Given the description of an element on the screen output the (x, y) to click on. 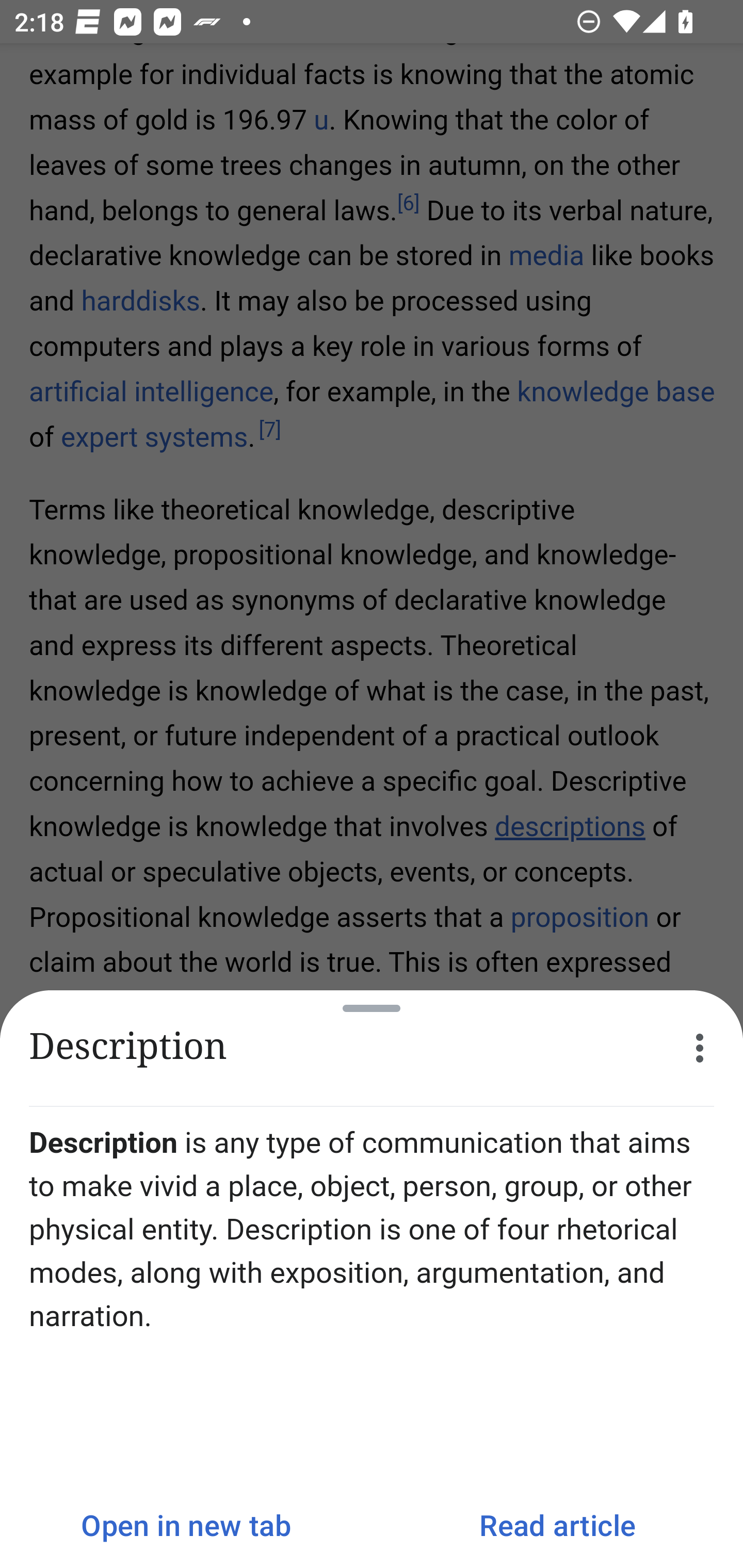
Description More options (371, 1047)
More options (699, 1048)
Open in new tab (185, 1524)
Read article (557, 1524)
